Given the description of an element on the screen output the (x, y) to click on. 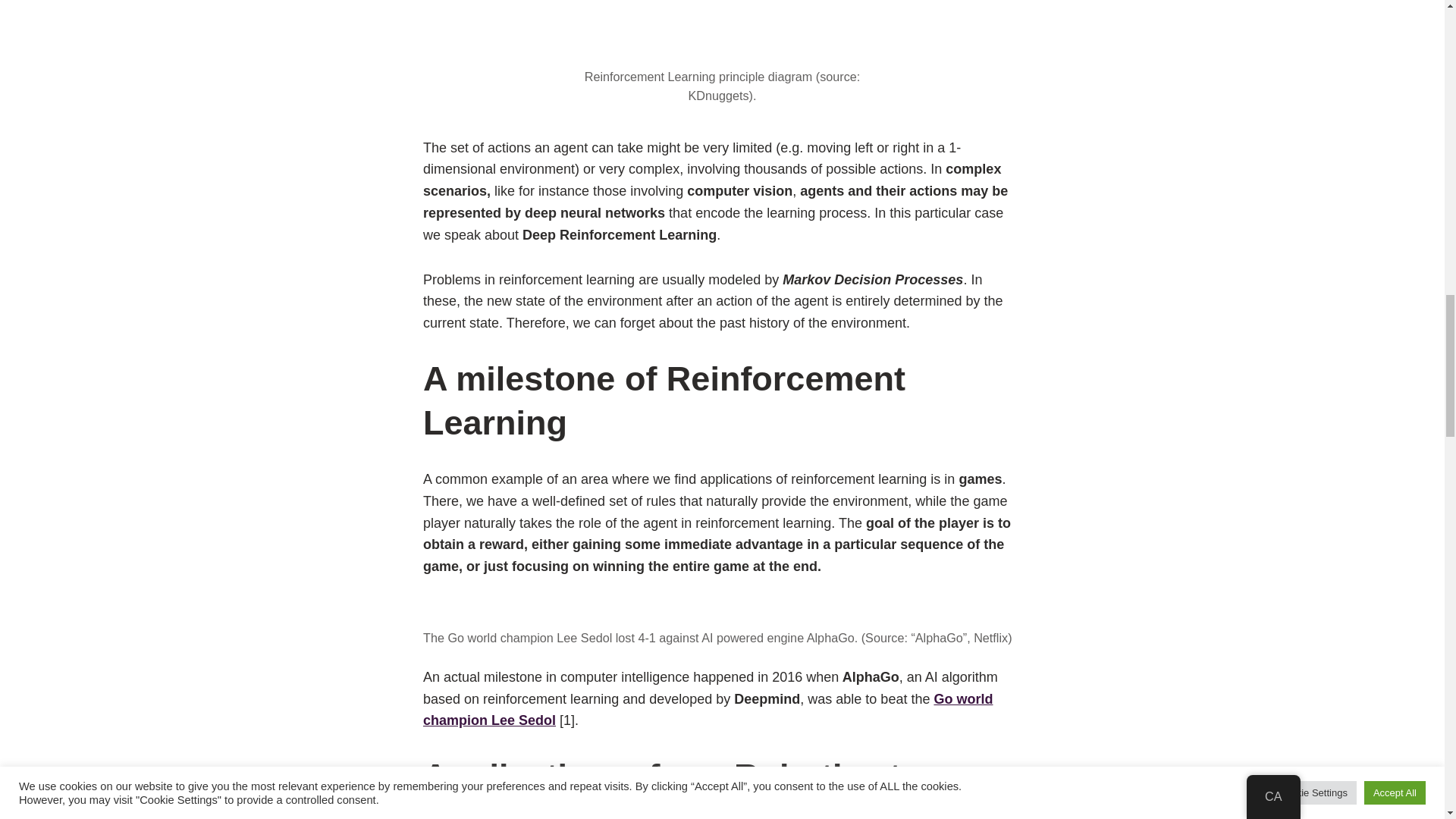
Go world champion Lee Sedol (707, 709)
